Given the description of an element on the screen output the (x, y) to click on. 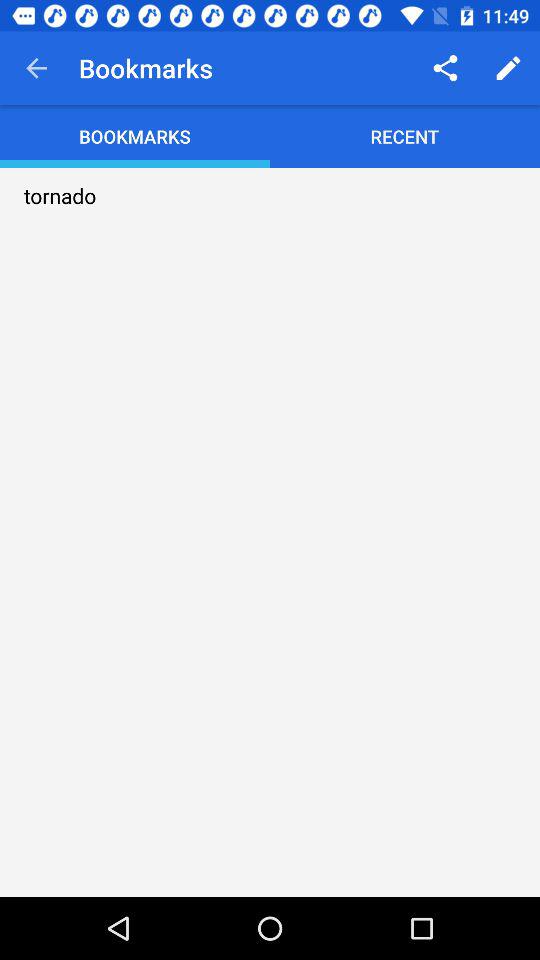
scroll to the tornado (59, 195)
